Given the description of an element on the screen output the (x, y) to click on. 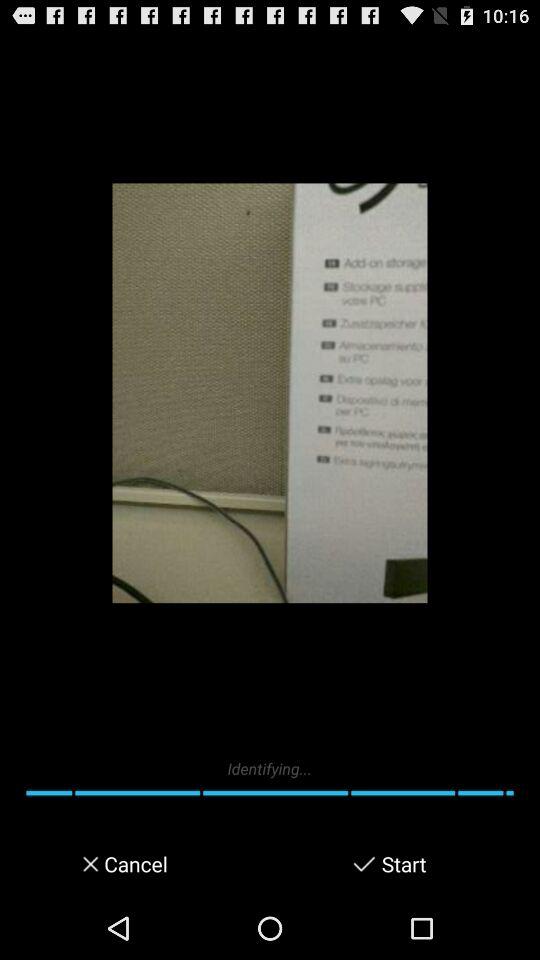
switch option (363, 864)
